Given the description of an element on the screen output the (x, y) to click on. 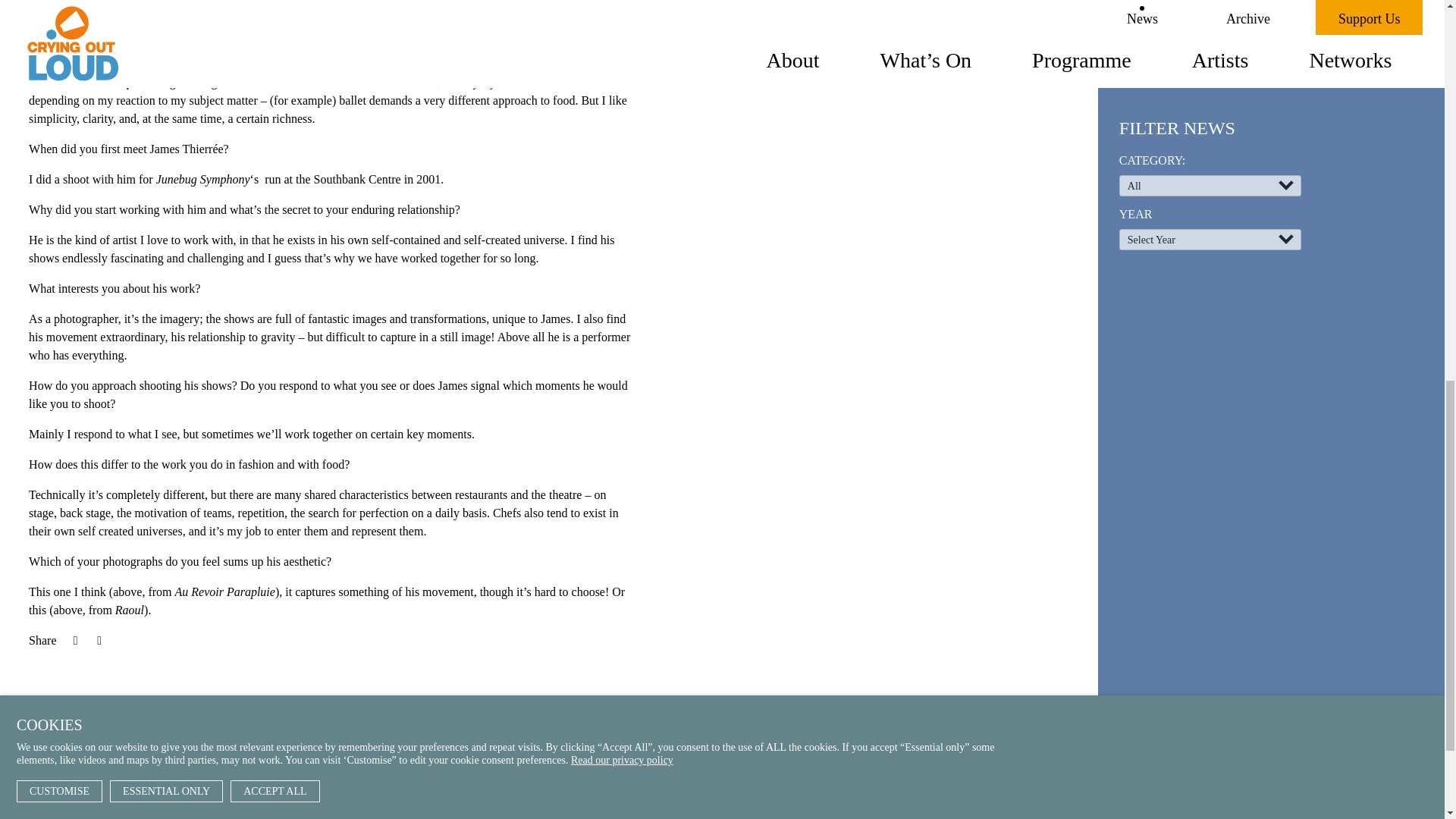
Site Map (593, 757)
Cog Design (641, 811)
Privacy Policy (603, 784)
Accessibility (600, 770)
